Given the description of an element on the screen output the (x, y) to click on. 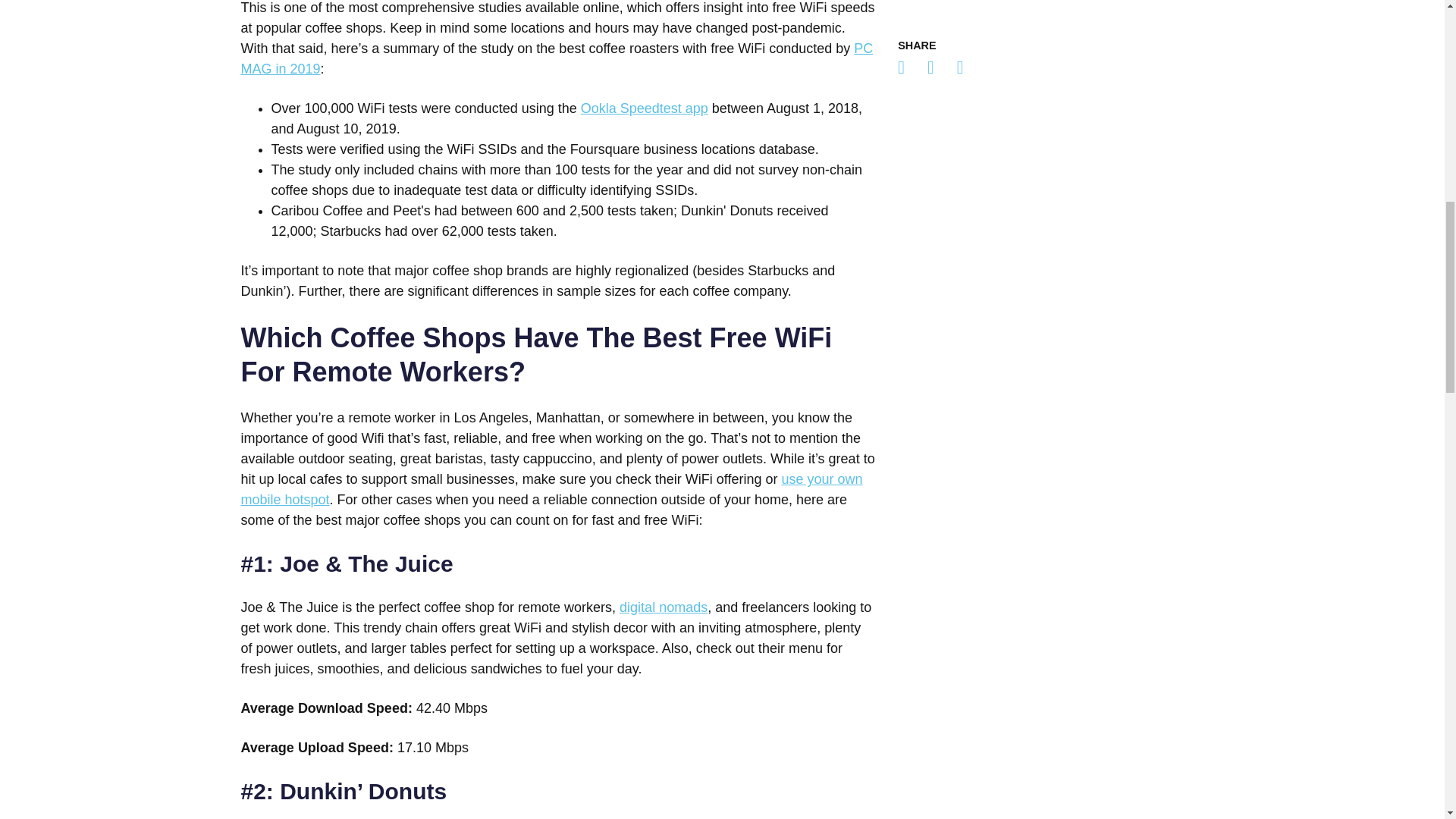
Ookla Speedtest app (643, 108)
PC MAG in 2019 (557, 58)
use your own mobile hotspot (552, 488)
digital nomads (663, 607)
